Given the description of an element on the screen output the (x, y) to click on. 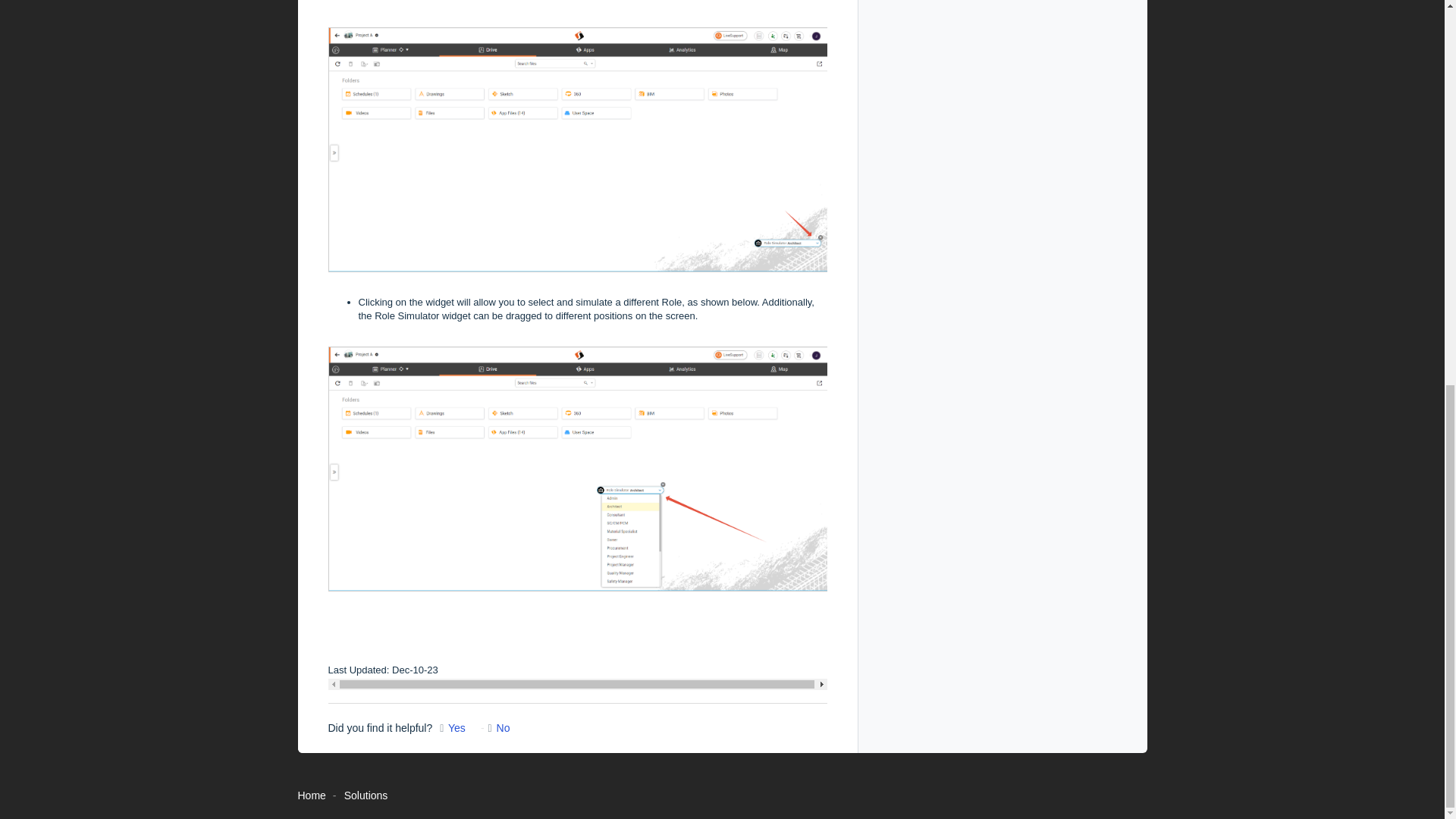
Solutions (365, 794)
Home (310, 794)
